Given the description of an element on the screen output the (x, y) to click on. 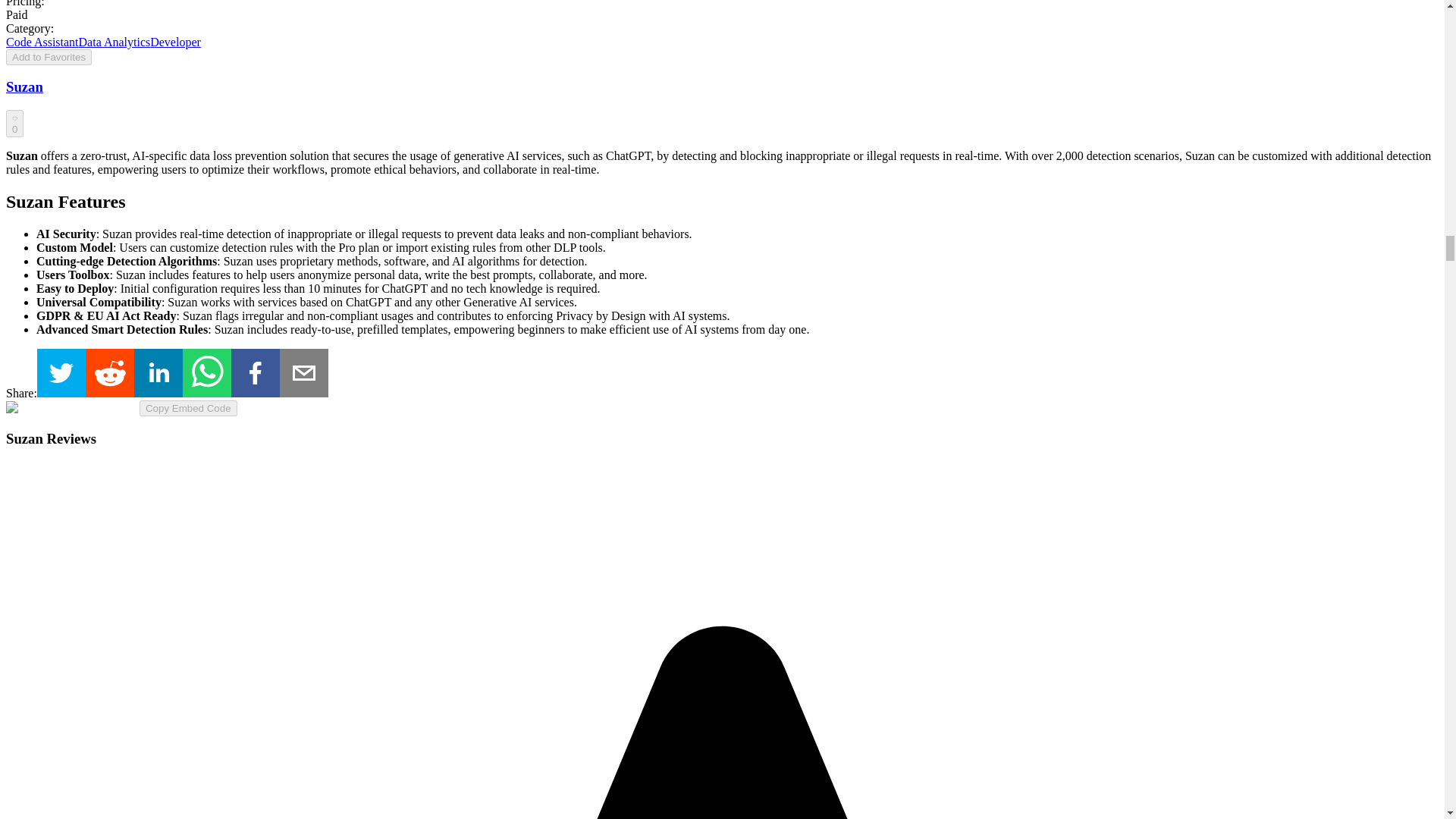
Data Analytics (114, 42)
Check out Suzan on AI Showcase! (255, 374)
Add to Favorites (48, 57)
Developer (174, 42)
Copy Embed Code (188, 408)
Code Assistant (41, 42)
Suzan (24, 86)
